Given the description of an element on the screen output the (x, y) to click on. 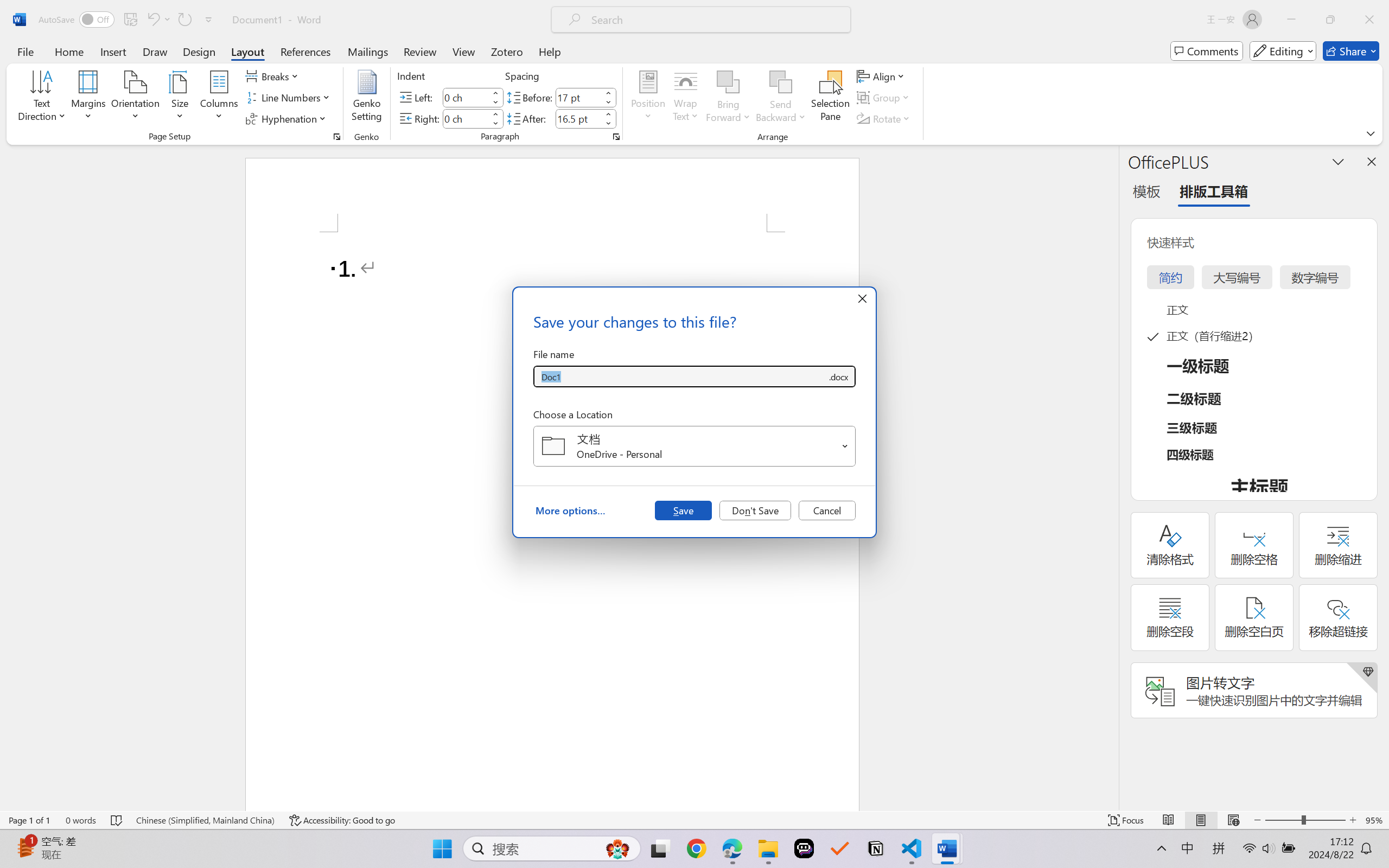
Send Backward (781, 97)
Line Numbers (289, 97)
Wrap Text (685, 97)
